Given the description of an element on the screen output the (x, y) to click on. 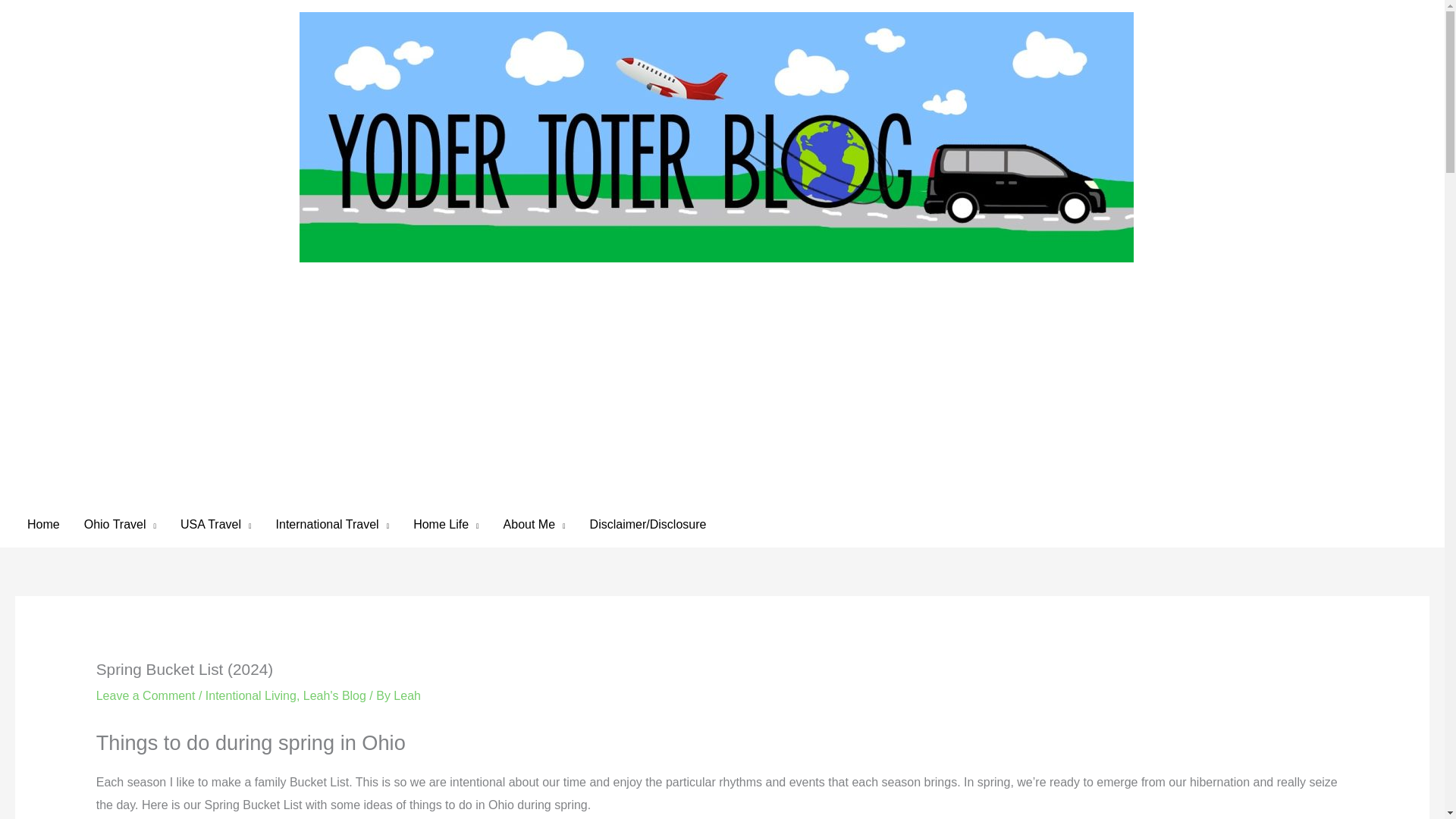
Home Life (445, 524)
USA Travel (215, 524)
View all posts by Leah (406, 695)
Ohio Travel (119, 524)
Home (42, 524)
International Travel (332, 524)
About Me (535, 524)
